Given the description of an element on the screen output the (x, y) to click on. 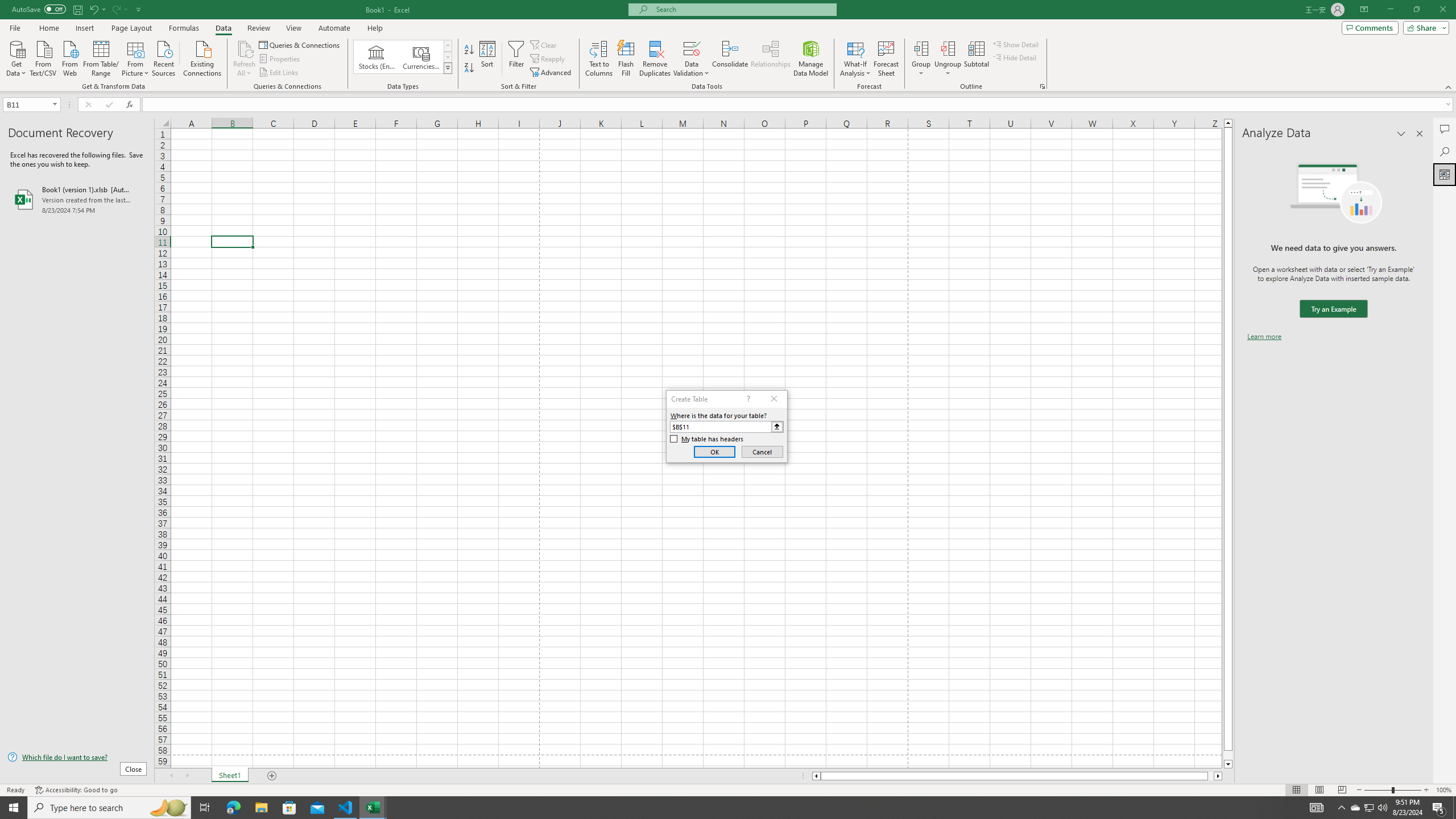
Hide Detail (1014, 56)
Properties (280, 58)
Formula Bar (799, 104)
Minimize (1390, 9)
Book1 (version 1).xlsb  [AutoRecovered] (77, 199)
System (6, 6)
Data (223, 28)
Undo (92, 9)
Filter (515, 58)
Close (1442, 9)
From Web (69, 57)
Ungroup... (947, 48)
Home (48, 28)
Sort... (487, 58)
Reapply (548, 58)
